Given the description of an element on the screen output the (x, y) to click on. 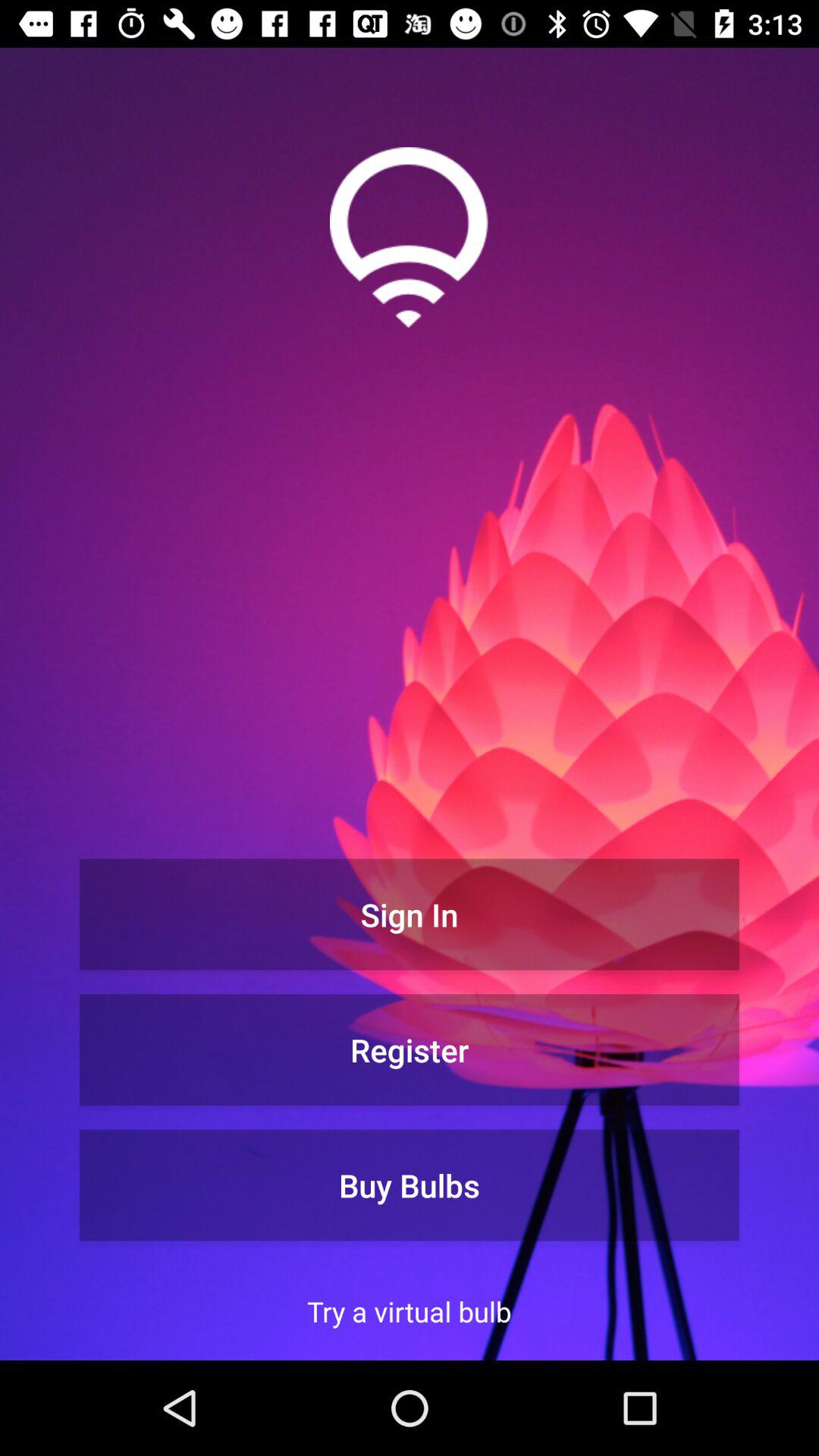
press register button (409, 1049)
